Given the description of an element on the screen output the (x, y) to click on. 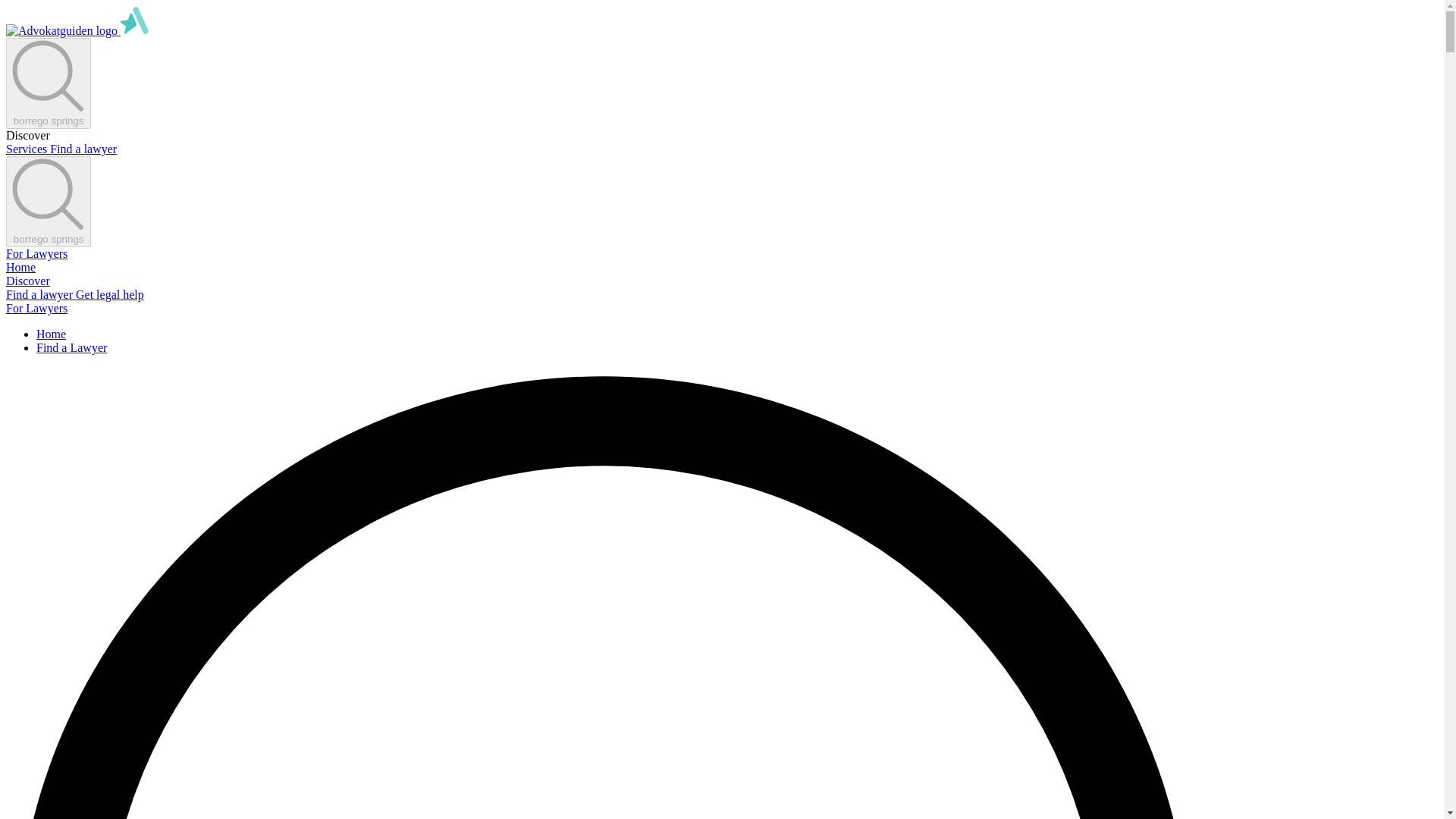
borrego springs (47, 201)
Find a lawyer (82, 148)
Home (50, 333)
Discover (27, 280)
Home (19, 267)
borrego springs (47, 82)
For Lawyers (35, 308)
Services (27, 148)
Get legal help (109, 294)
Find a Lawyer (71, 347)
